Given the description of an element on the screen output the (x, y) to click on. 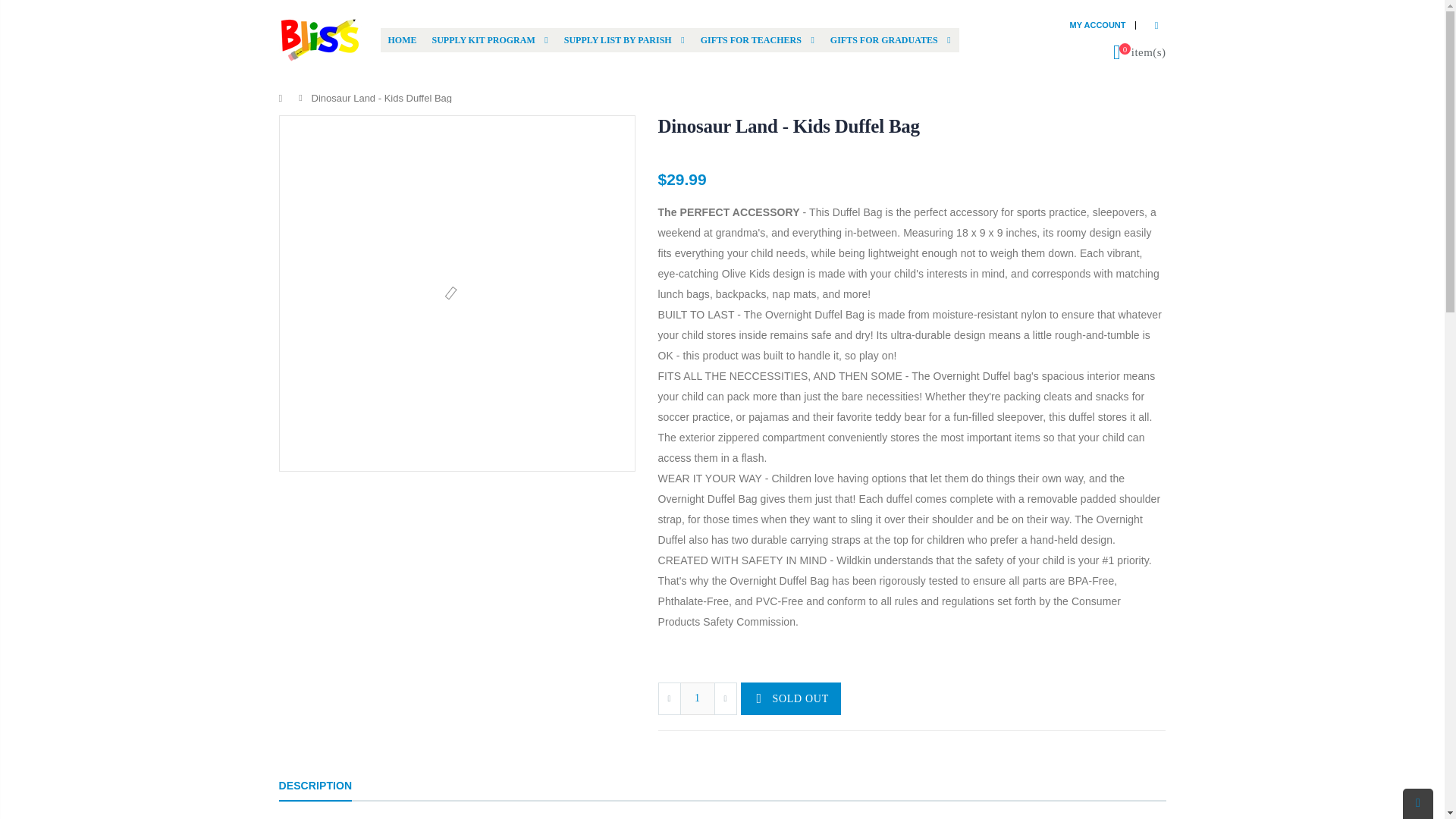
GIFTS FOR GRADUATES (889, 39)
MY ACCOUNT (1097, 24)
SUPPLY KIT PROGRAM (489, 39)
1 (696, 698)
HOME (402, 39)
GIFTS FOR TEACHERS (757, 39)
Back to the frontpage (284, 98)
SUPPLY LIST BY PARISH (623, 39)
